Given the description of an element on the screen output the (x, y) to click on. 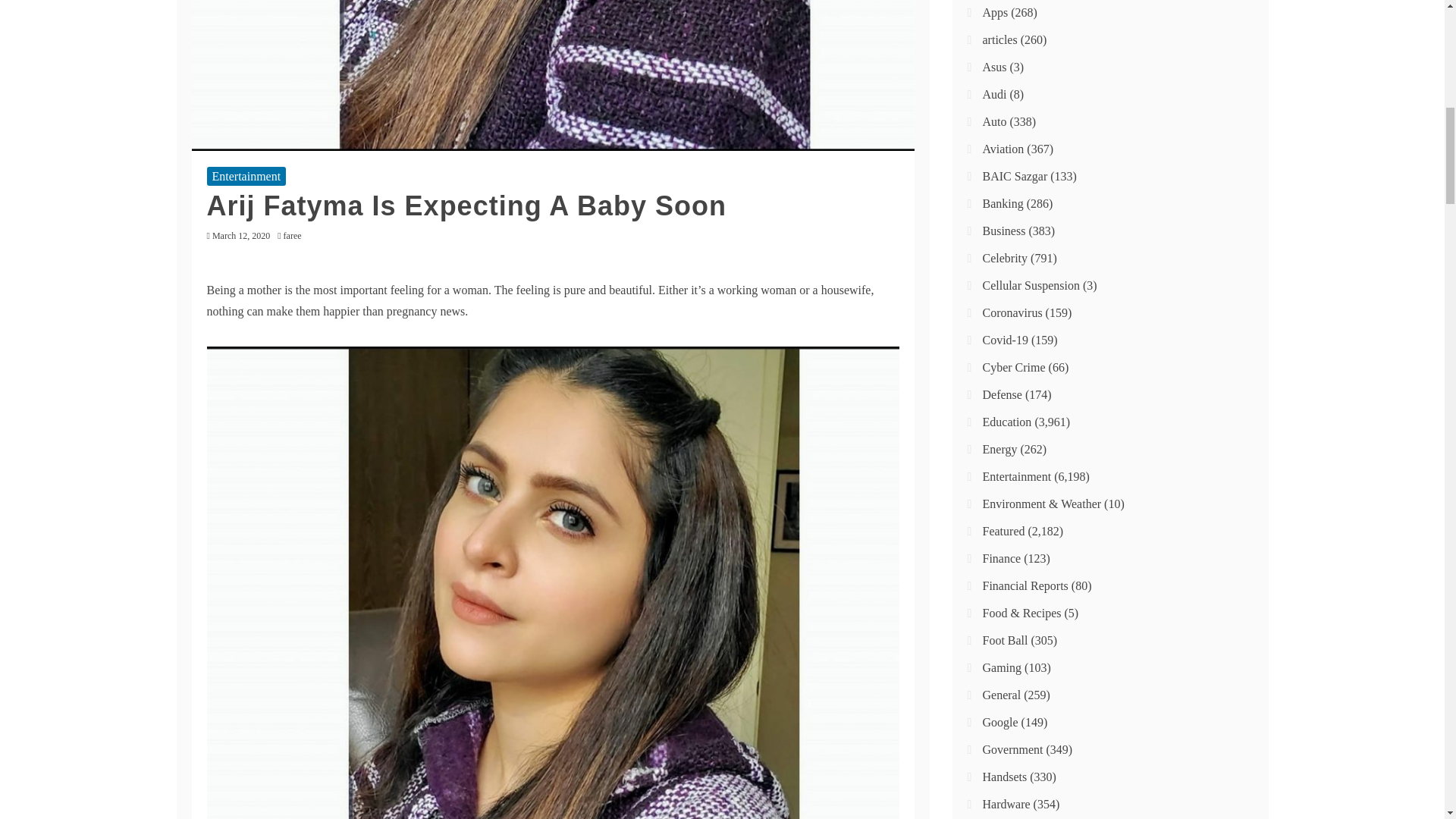
faree (295, 235)
March 12, 2020 (240, 235)
Entertainment (245, 176)
